Given the description of an element on the screen output the (x, y) to click on. 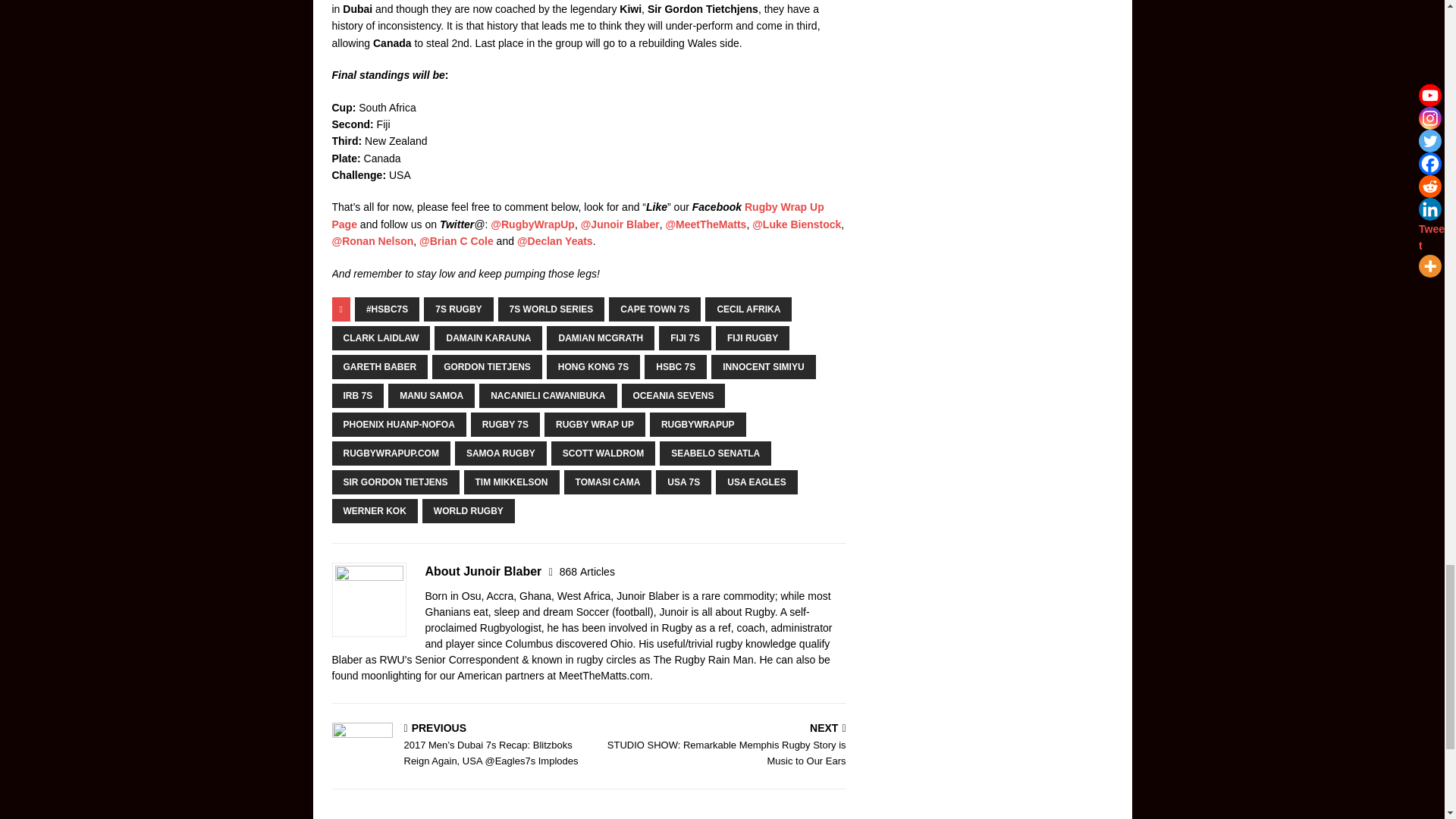
More articles written by Junoir Blaber' (586, 571)
